Given the description of an element on the screen output the (x, y) to click on. 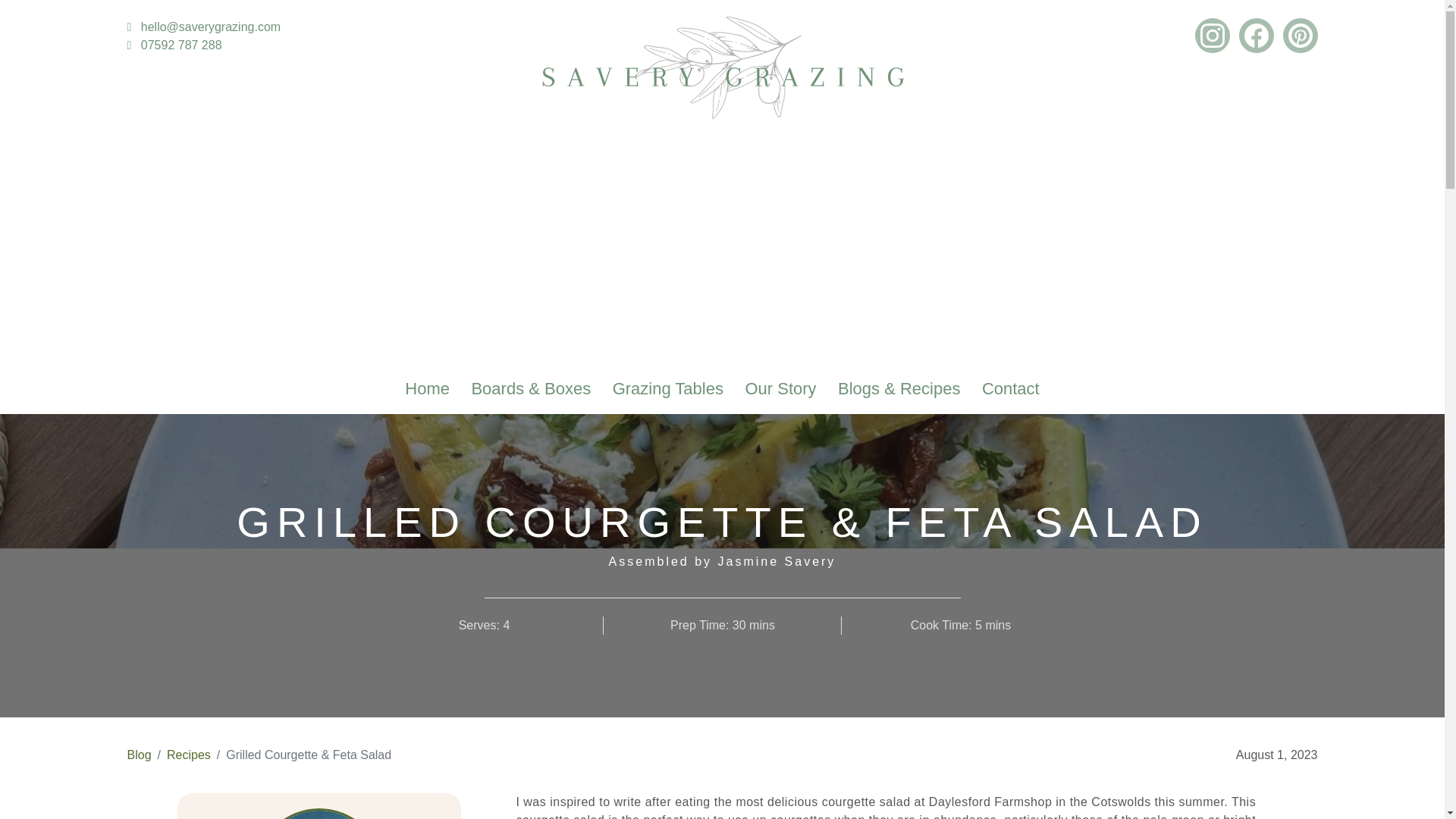
Facebook (1256, 35)
Recipes (189, 755)
Pinterest (1299, 35)
07592 787 288 (175, 44)
Instagram (1212, 35)
Home (426, 388)
Blog (139, 755)
Contact (1010, 388)
Grazing Tables (667, 388)
